Given the description of an element on the screen output the (x, y) to click on. 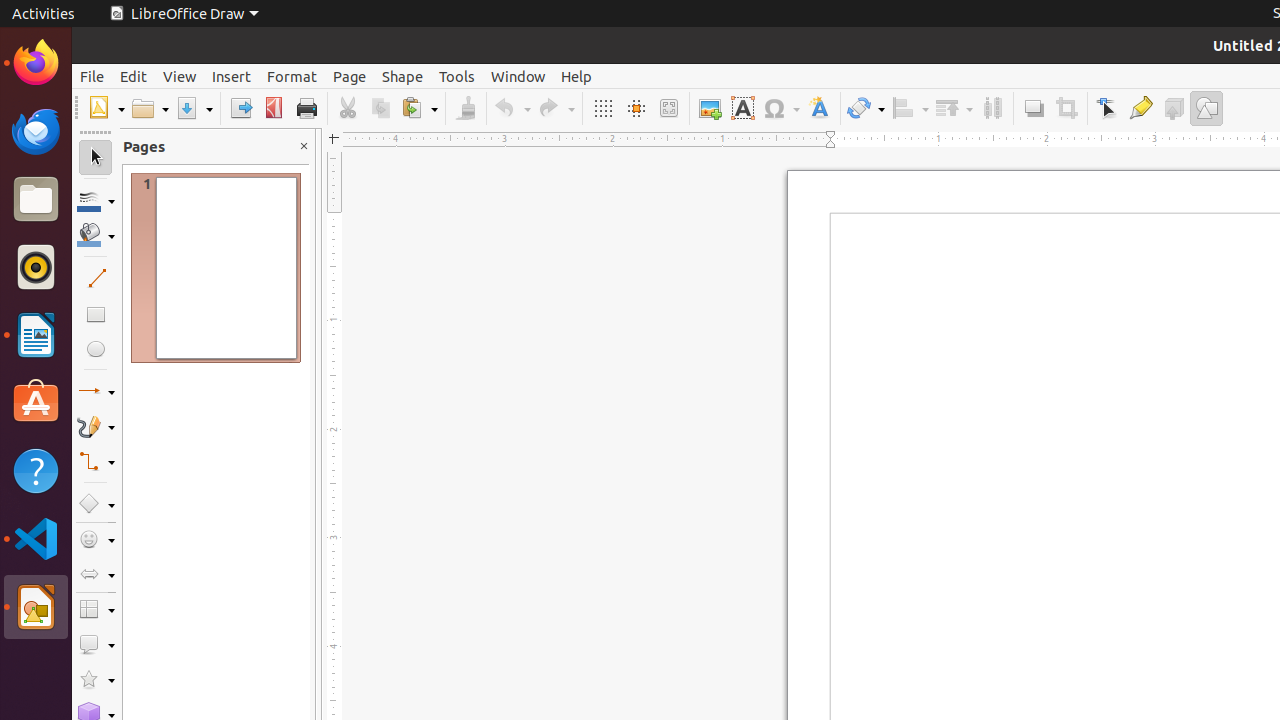
PDF Element type: push-button (273, 108)
Align Element type: push-button (910, 108)
Clone Element type: push-button (465, 108)
Symbol Shapes Element type: push-button (96, 539)
Toggle Extrusion Element type: push-button (1173, 108)
